Given the description of an element on the screen output the (x, y) to click on. 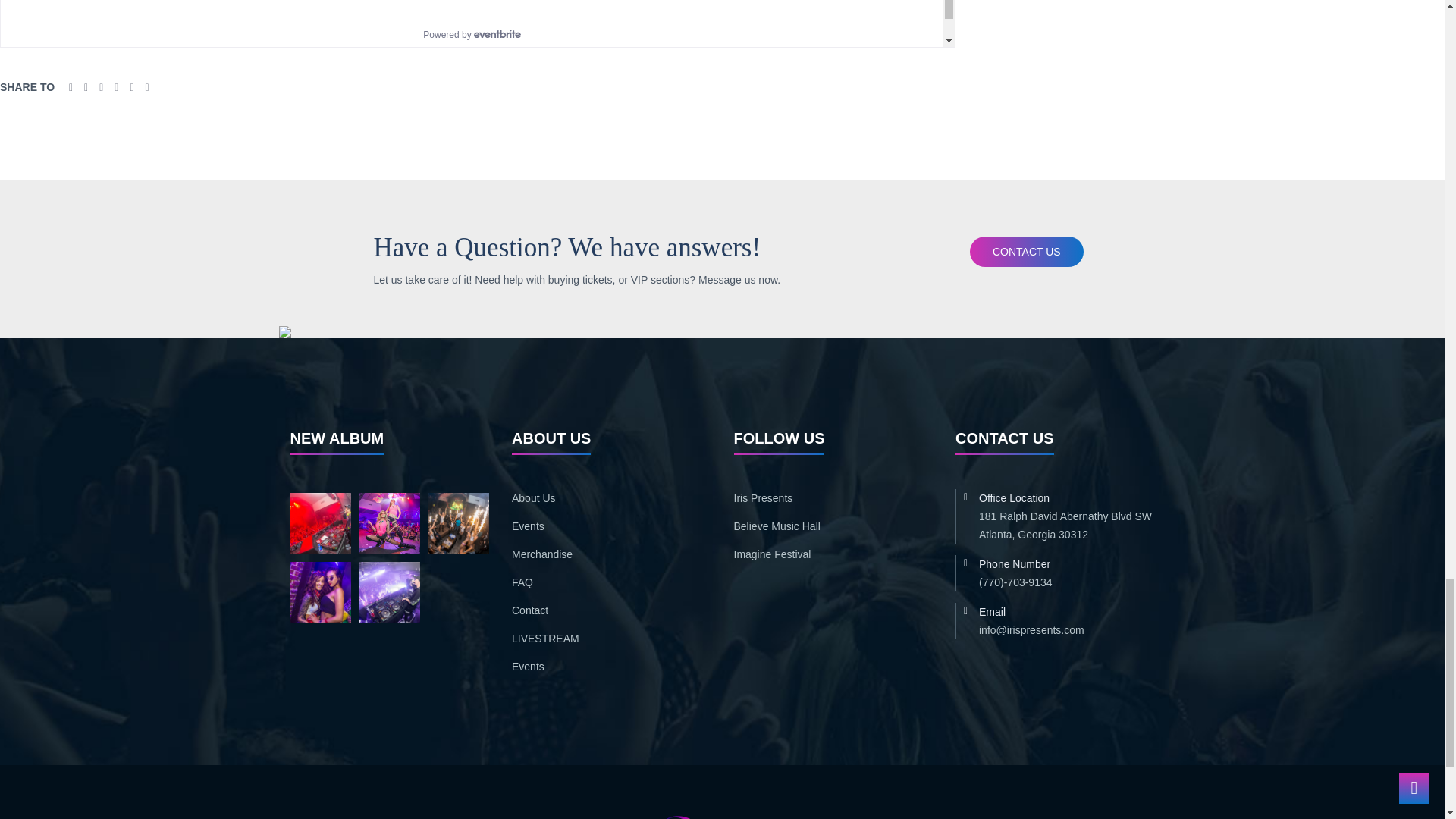
CONTACT US (1026, 251)
logo (721, 816)
